Given the description of an element on the screen output the (x, y) to click on. 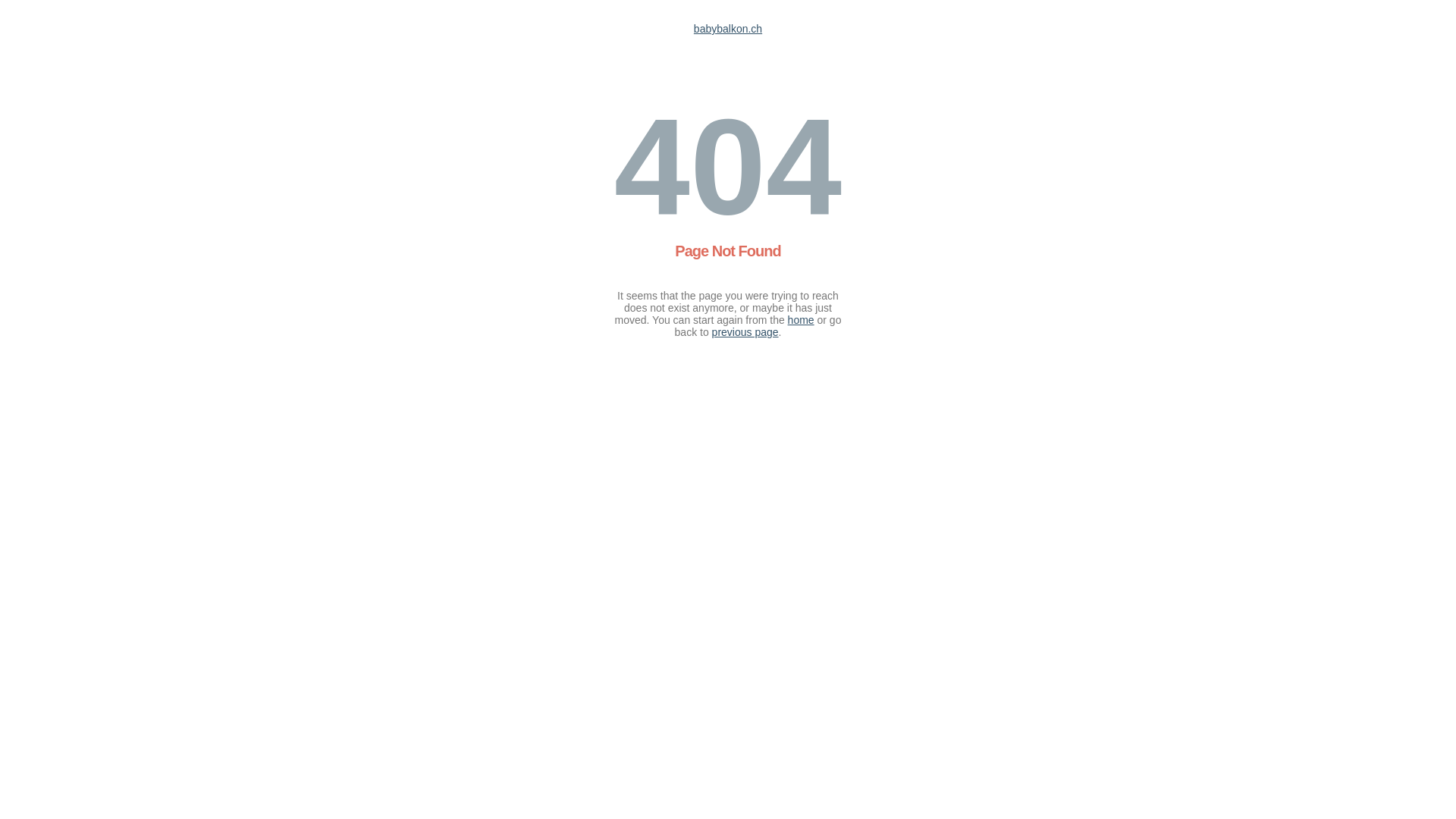
previous page Element type: text (745, 332)
home Element type: text (800, 319)
babybalkon.ch Element type: text (727, 28)
